Given the description of an element on the screen output the (x, y) to click on. 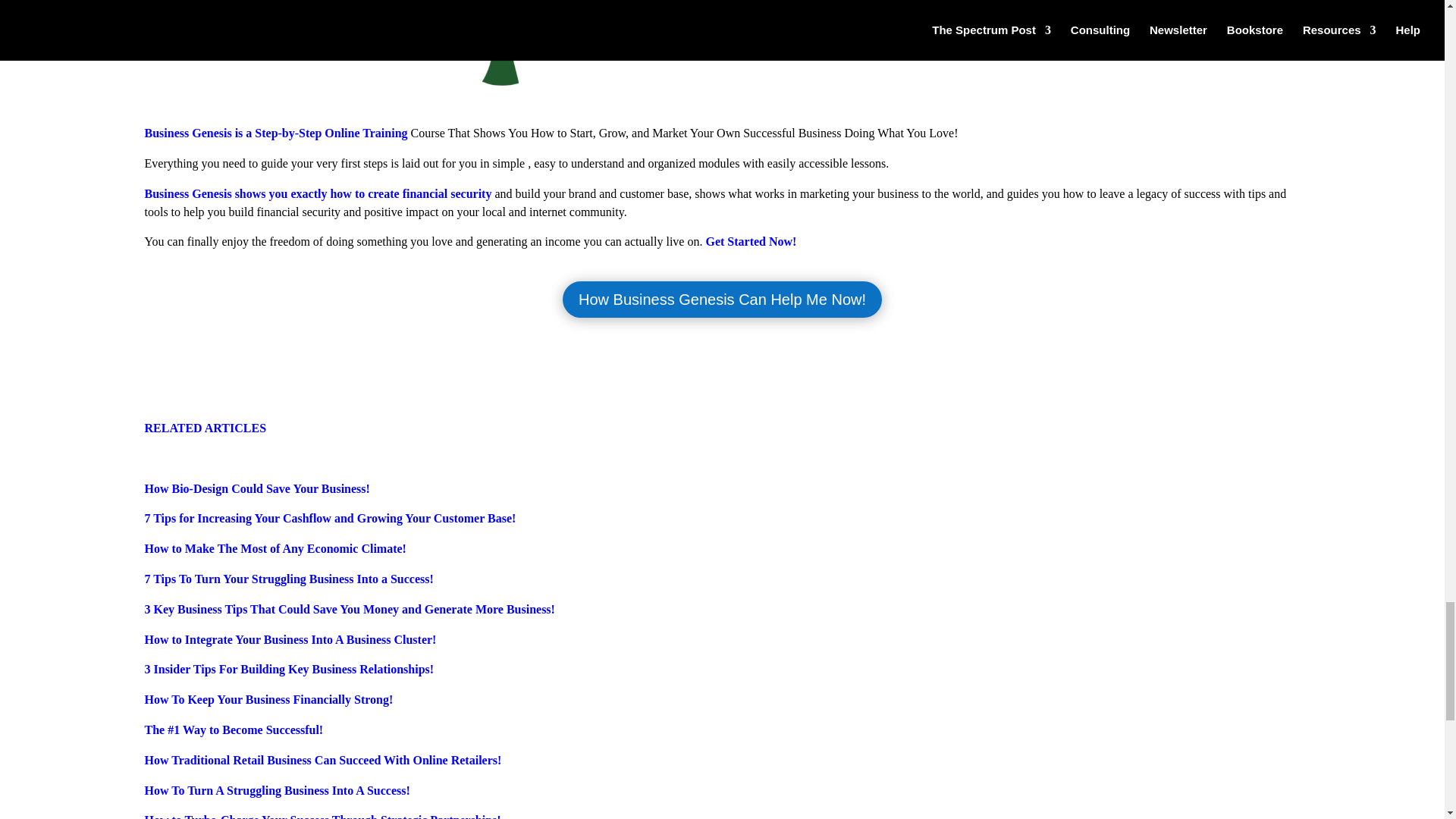
Business Genesis logo 1 (721, 62)
